Given the description of an element on the screen output the (x, y) to click on. 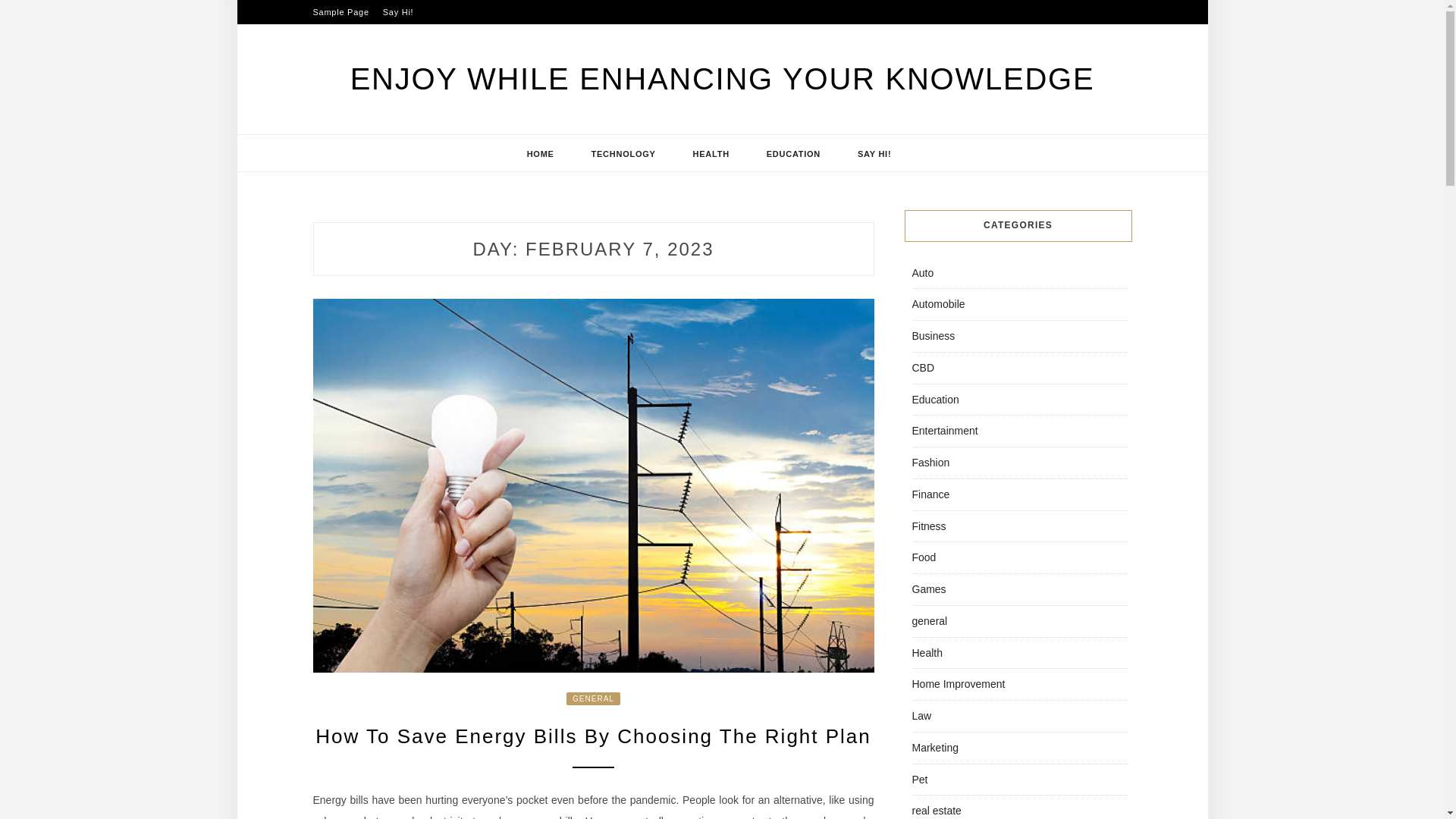
Law (921, 715)
CBD (922, 367)
Fitness (927, 526)
GENERAL (593, 698)
Auto (922, 272)
Finance (930, 494)
Education (934, 398)
Entertainment (943, 430)
real estate (935, 810)
general (929, 621)
